Given the description of an element on the screen output the (x, y) to click on. 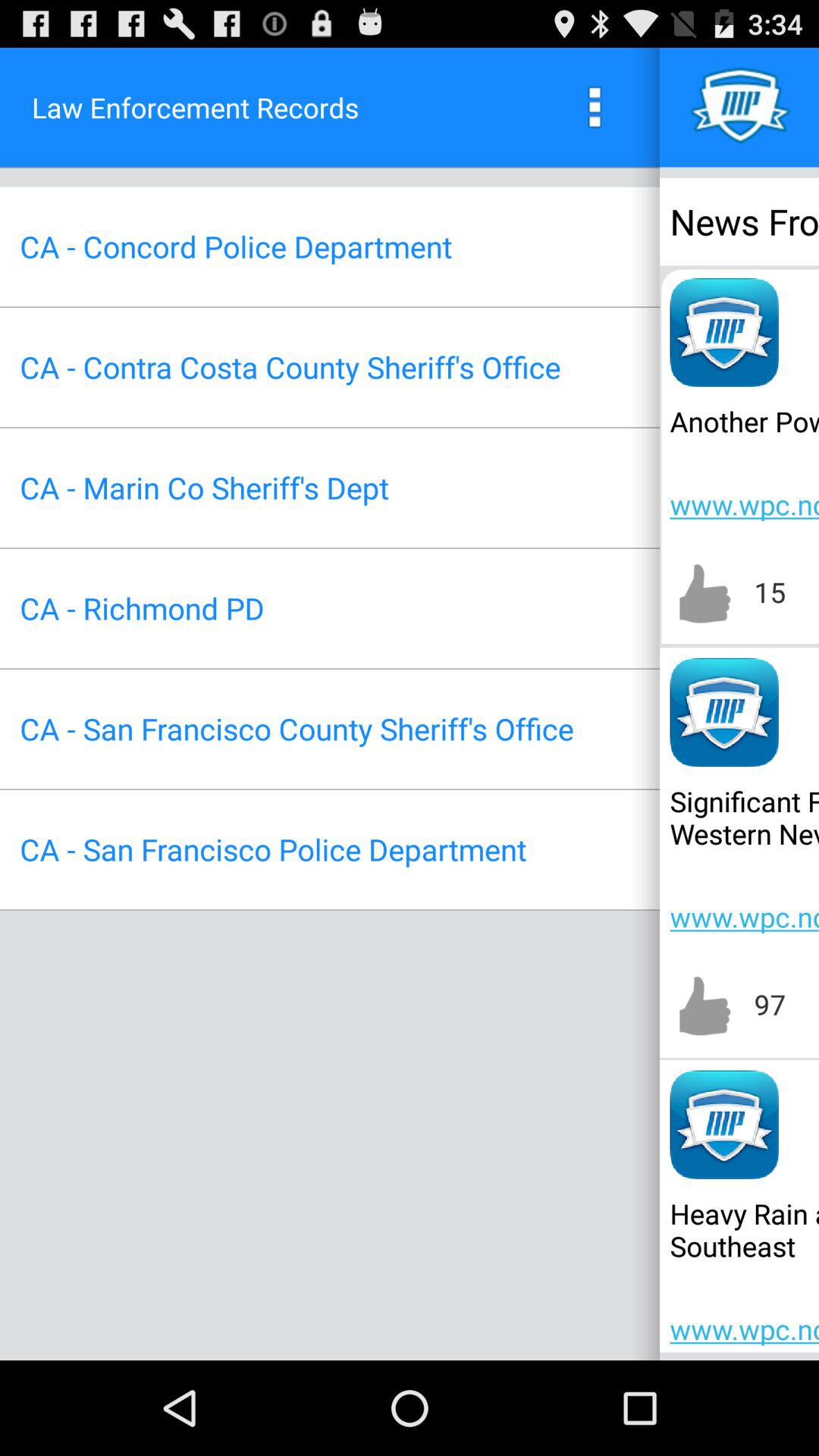
turn on item to the left of the www wpc ncep (204, 487)
